Given the description of an element on the screen output the (x, y) to click on. 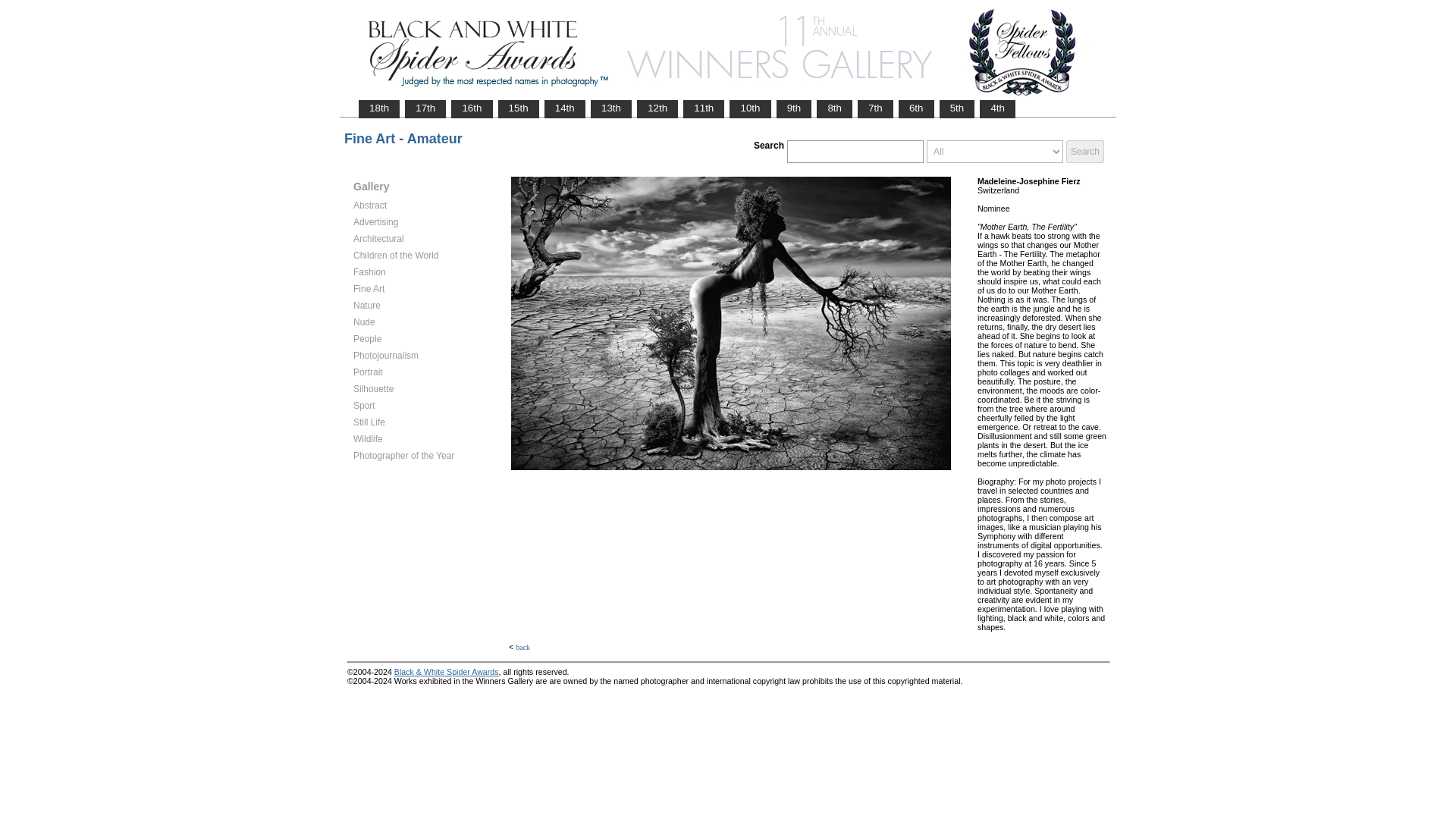
Search (1084, 151)
   11th    (703, 107)
   17th    (425, 107)
   7th    (875, 107)
   12th    (657, 107)
Search (1084, 151)
   5th    (957, 107)
Mother Earth, The Fertility (730, 323)
   16th    (471, 107)
   18th    (378, 107)
   4th    (996, 107)
   9th    (793, 107)
   8th    (833, 107)
   10th    (750, 107)
   13th    (610, 107)
